Given the description of an element on the screen output the (x, y) to click on. 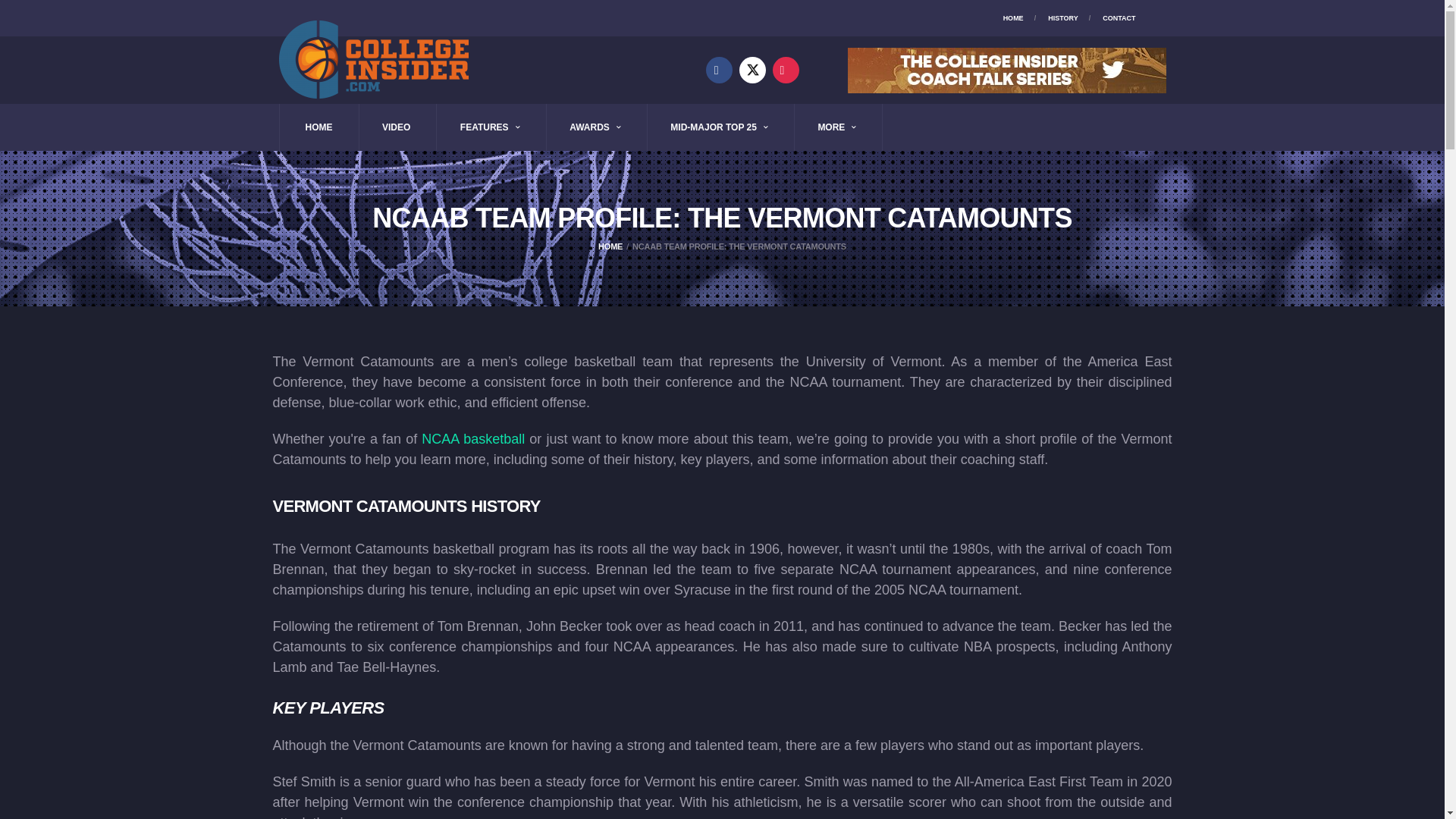
FEATURES (489, 127)
HOME (318, 127)
VIDEO (395, 127)
CONTACT (1118, 18)
AWARDS (594, 127)
